Given the description of an element on the screen output the (x, y) to click on. 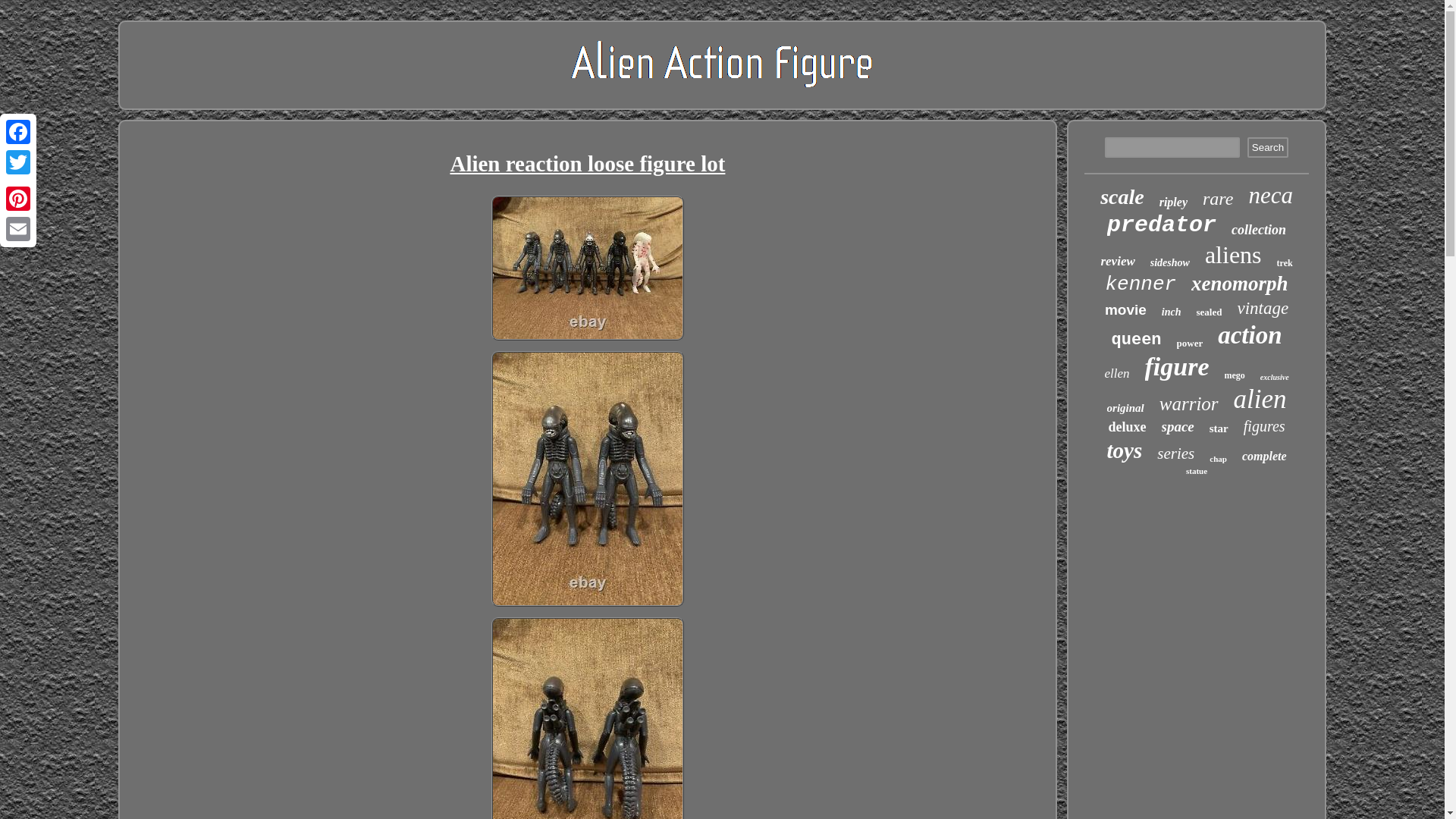
rare (1217, 199)
Alien reaction loose figure lot (588, 718)
vintage (1262, 308)
sideshow (1169, 263)
sealed (1209, 312)
Pinterest (17, 198)
predator (1160, 225)
inch (1170, 312)
review (1117, 261)
scale (1122, 197)
aliens (1233, 254)
Email (17, 228)
neca (1269, 195)
movie (1126, 310)
